Given the description of an element on the screen output the (x, y) to click on. 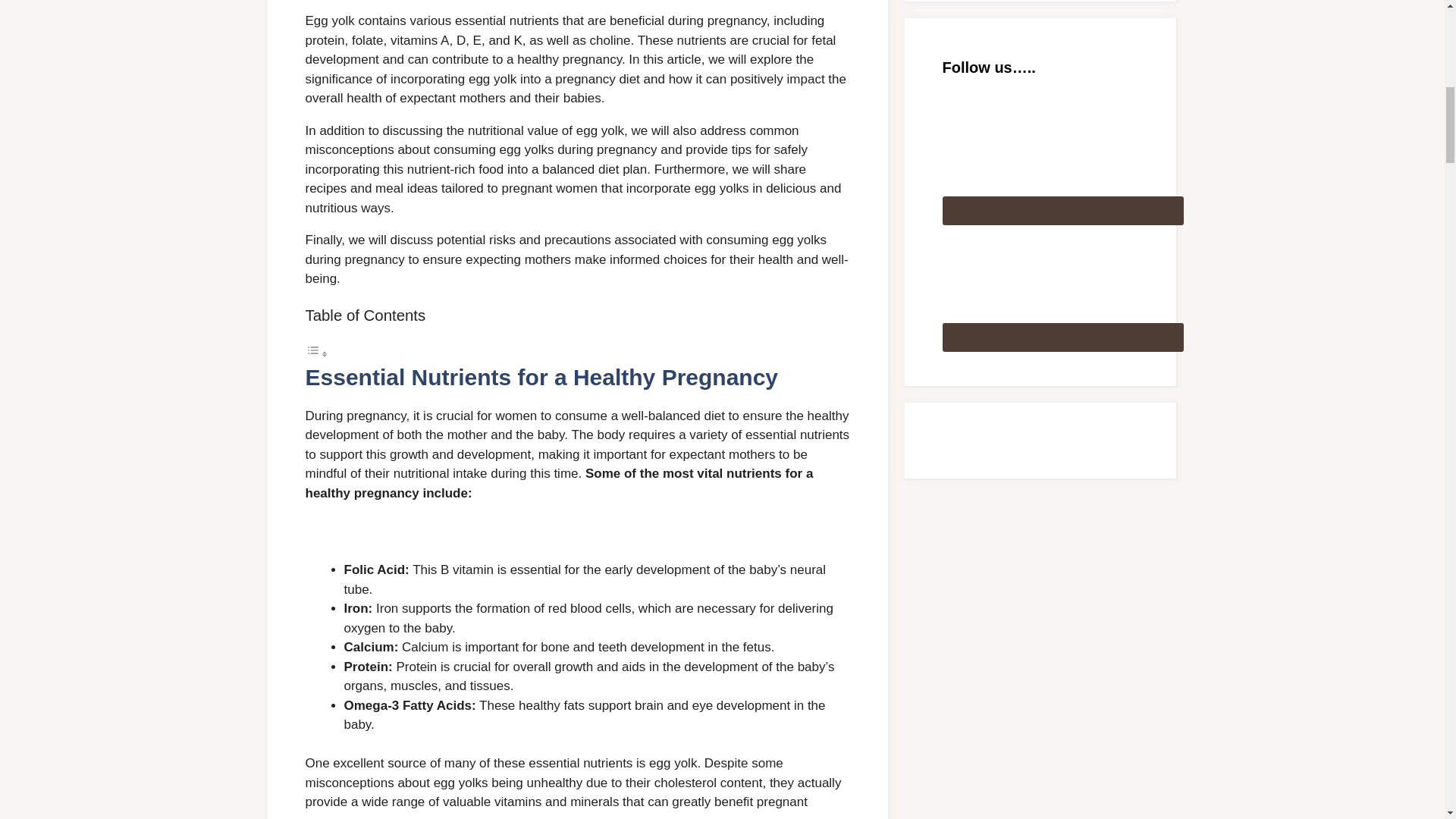
Facebook (1062, 285)
Email (1062, 158)
